Given the description of an element on the screen output the (x, y) to click on. 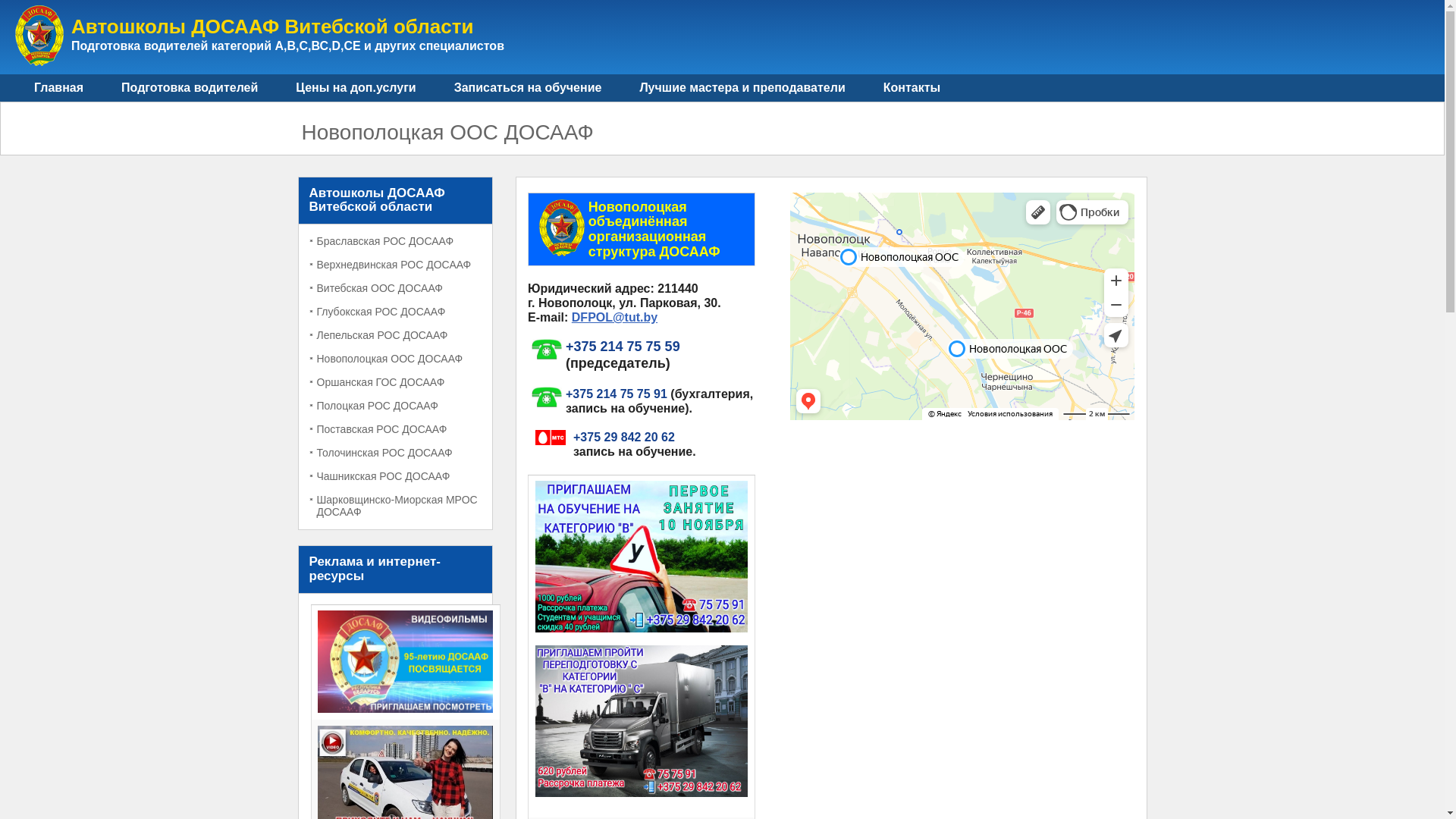
+375 214 75 75 91 Element type: text (616, 393)
DFPOL@tut.by Element type: text (614, 316)
+375 214 75 75 59 Element type: text (622, 346)
+375 29 842 20 62 Element type: text (623, 436)
